Given the description of an element on the screen output the (x, y) to click on. 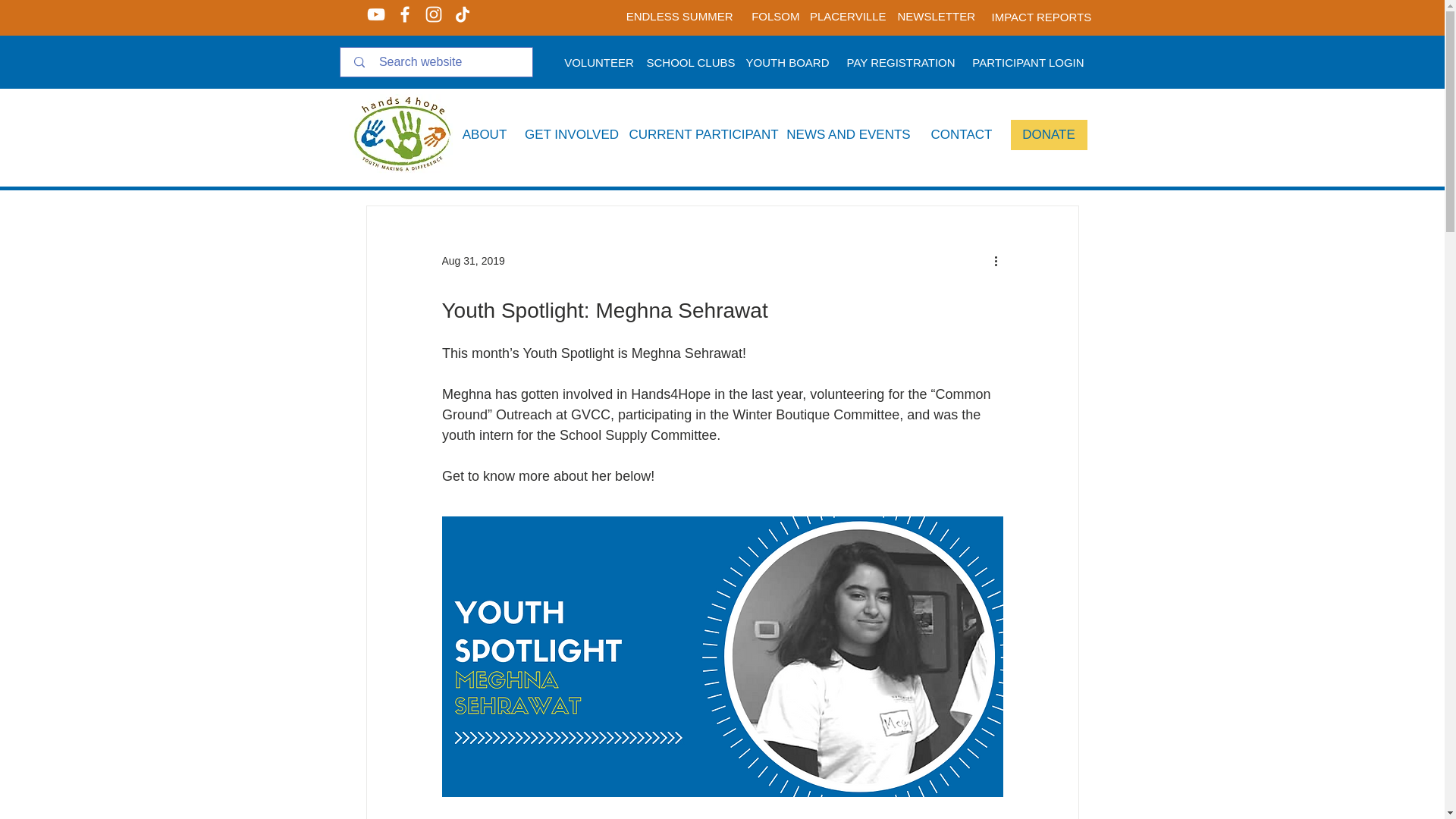
PARTICIPANT LOGIN (1027, 61)
PAY REGISTRATION (900, 61)
CURRENT PARTICIPANT (703, 134)
VOLUNTEER (598, 61)
PLACERVILLE (847, 15)
NEWS AND EVENTS (847, 134)
FOLSOM (772, 15)
ABOUT (485, 134)
IMPACT REPORTS (1041, 15)
NEWSLETTER (936, 15)
